Given the description of an element on the screen output the (x, y) to click on. 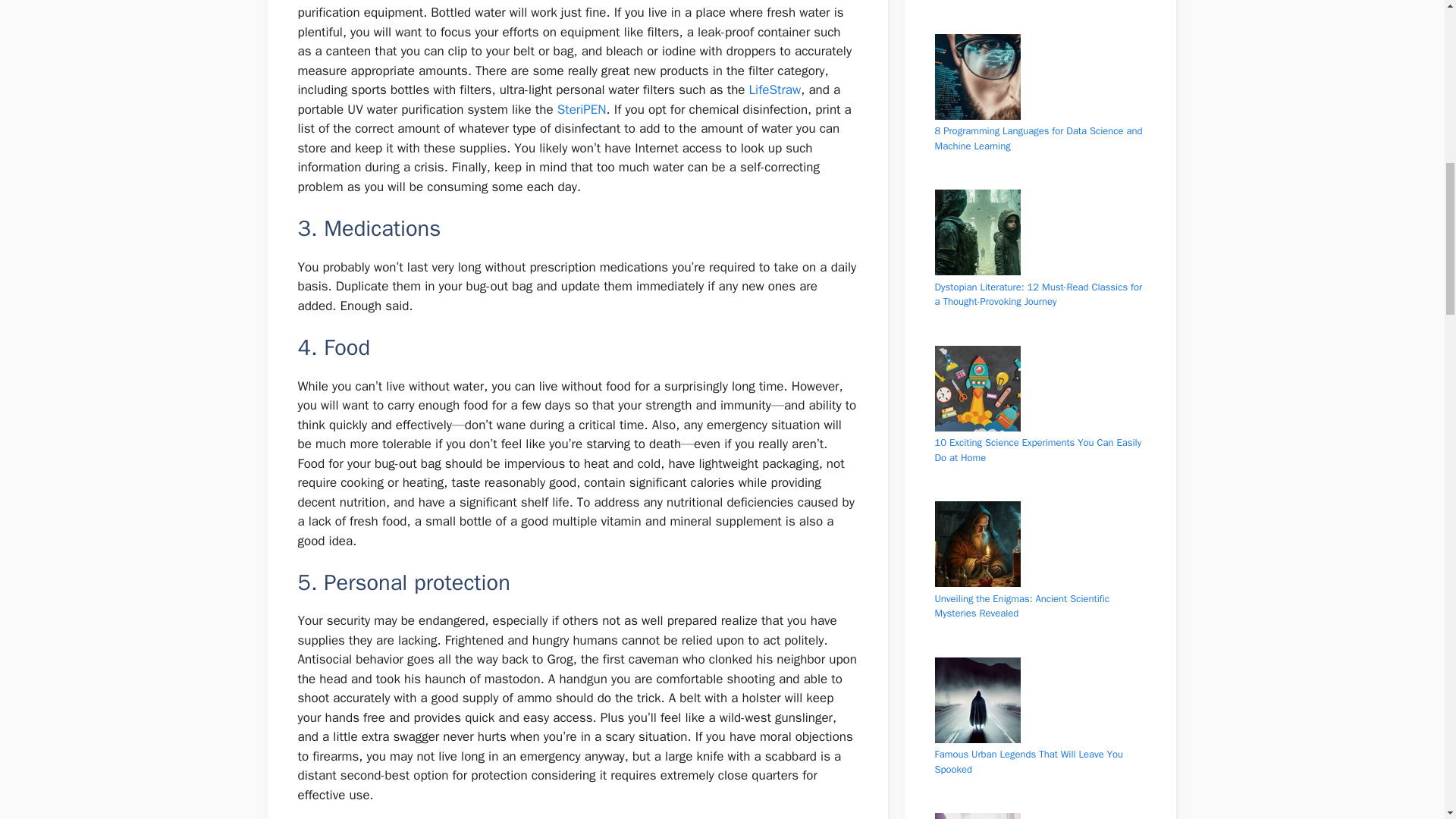
Unveiling the Enigmas: Ancient Scientific Mysteries Revealed (1021, 605)
10 Exciting Science Experiments You Can Easily Do at Home (1037, 449)
LifeStraw (775, 89)
SteriPEN (582, 109)
Scroll back to top (1406, 720)
Famous Urban Legends That Will Leave You Spooked (1028, 761)
